Given the description of an element on the screen output the (x, y) to click on. 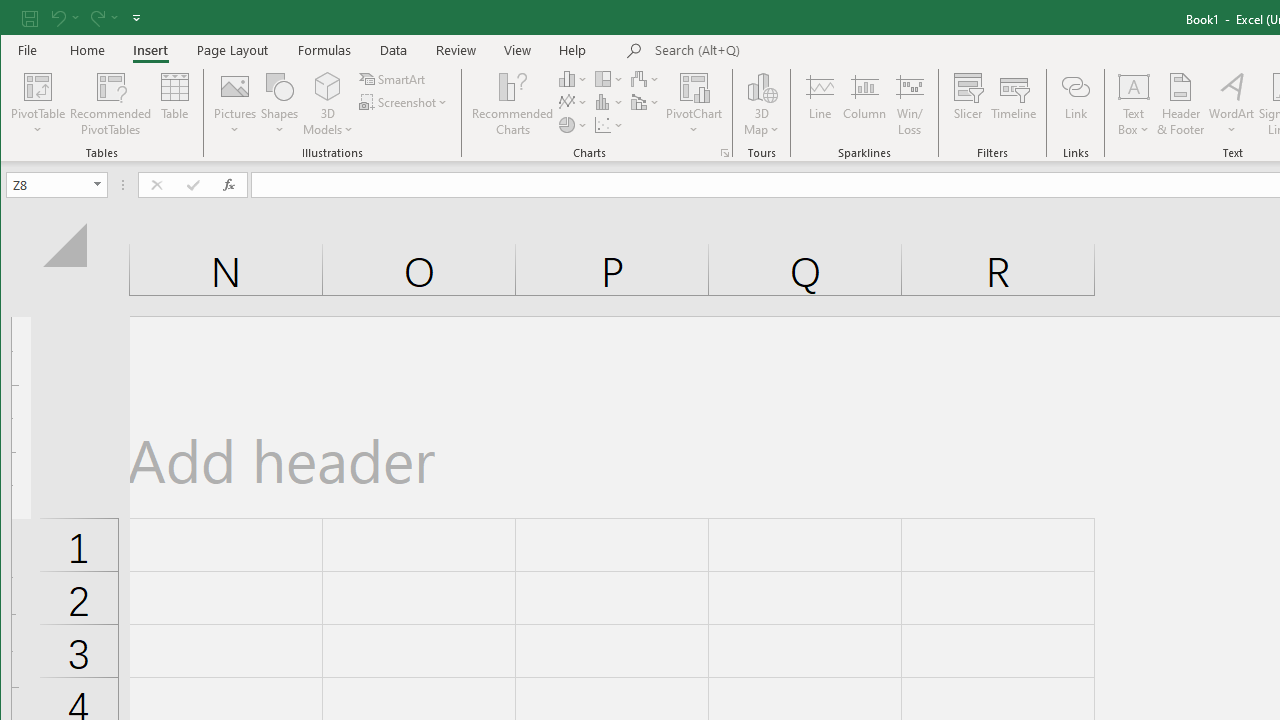
Column (864, 104)
Recommended PivotTables (110, 104)
3D Map (762, 86)
Draw Horizontal Text Box (1133, 86)
3D Models (327, 104)
Slicer... (968, 104)
Timeline (1014, 104)
Insert Scatter (X, Y) or Bubble Chart (609, 124)
Header & Footer... (1180, 104)
